Given the description of an element on the screen output the (x, y) to click on. 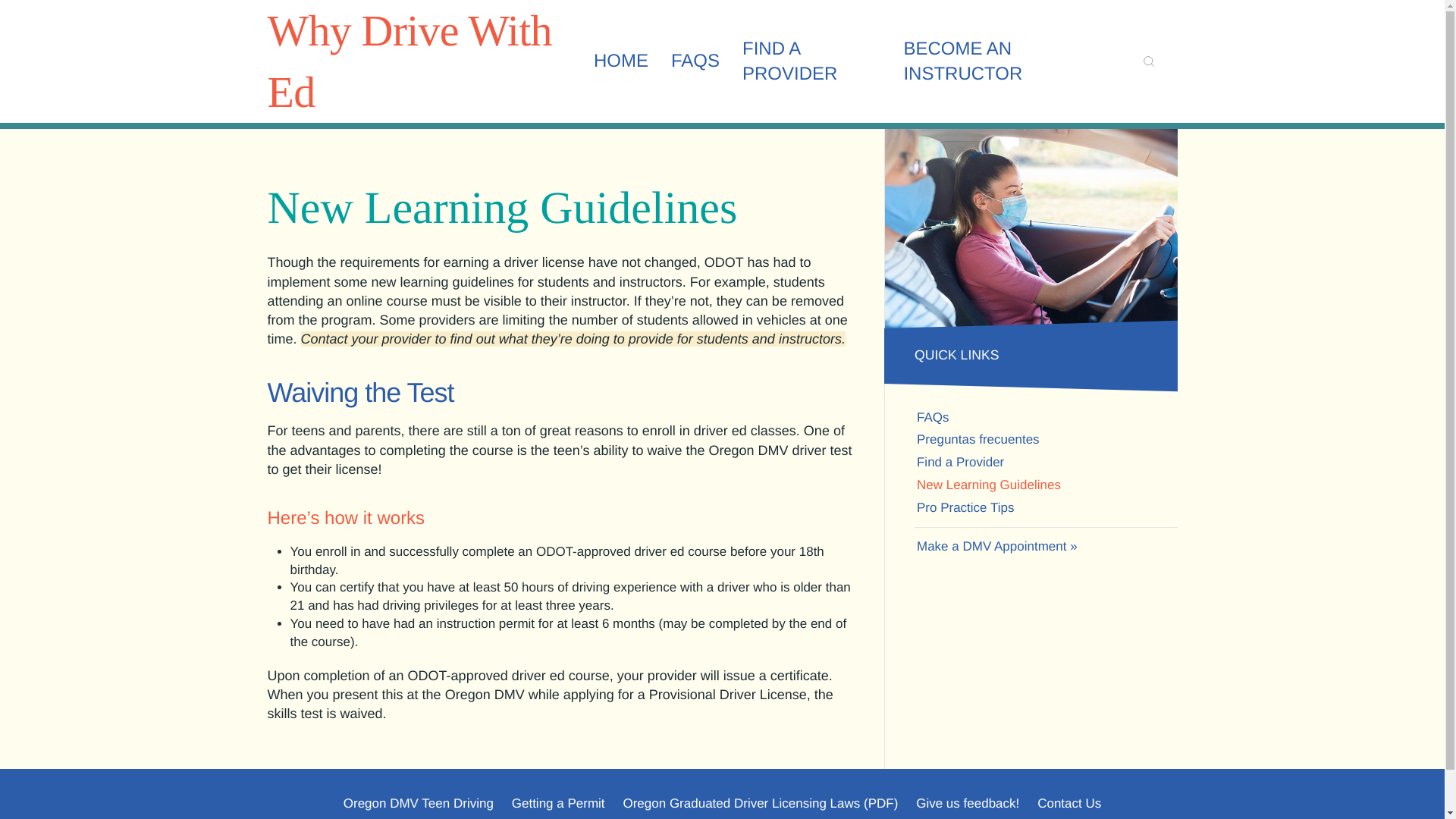
Oregon DMV Teen Driving (418, 803)
HOME (620, 61)
Contact Us (1068, 803)
FAQs (1045, 417)
BECOME AN INSTRUCTOR (1005, 61)
Home (620, 61)
Getting a Permit (557, 803)
FIND A PROVIDER (810, 61)
Give us feedback! (967, 803)
Find a Provider (810, 61)
FAQS (694, 61)
Find a Provider (1045, 462)
Oregon DMV Teen Driving (418, 803)
FAQs (694, 61)
Give us feedback! (967, 803)
